Given the description of an element on the screen output the (x, y) to click on. 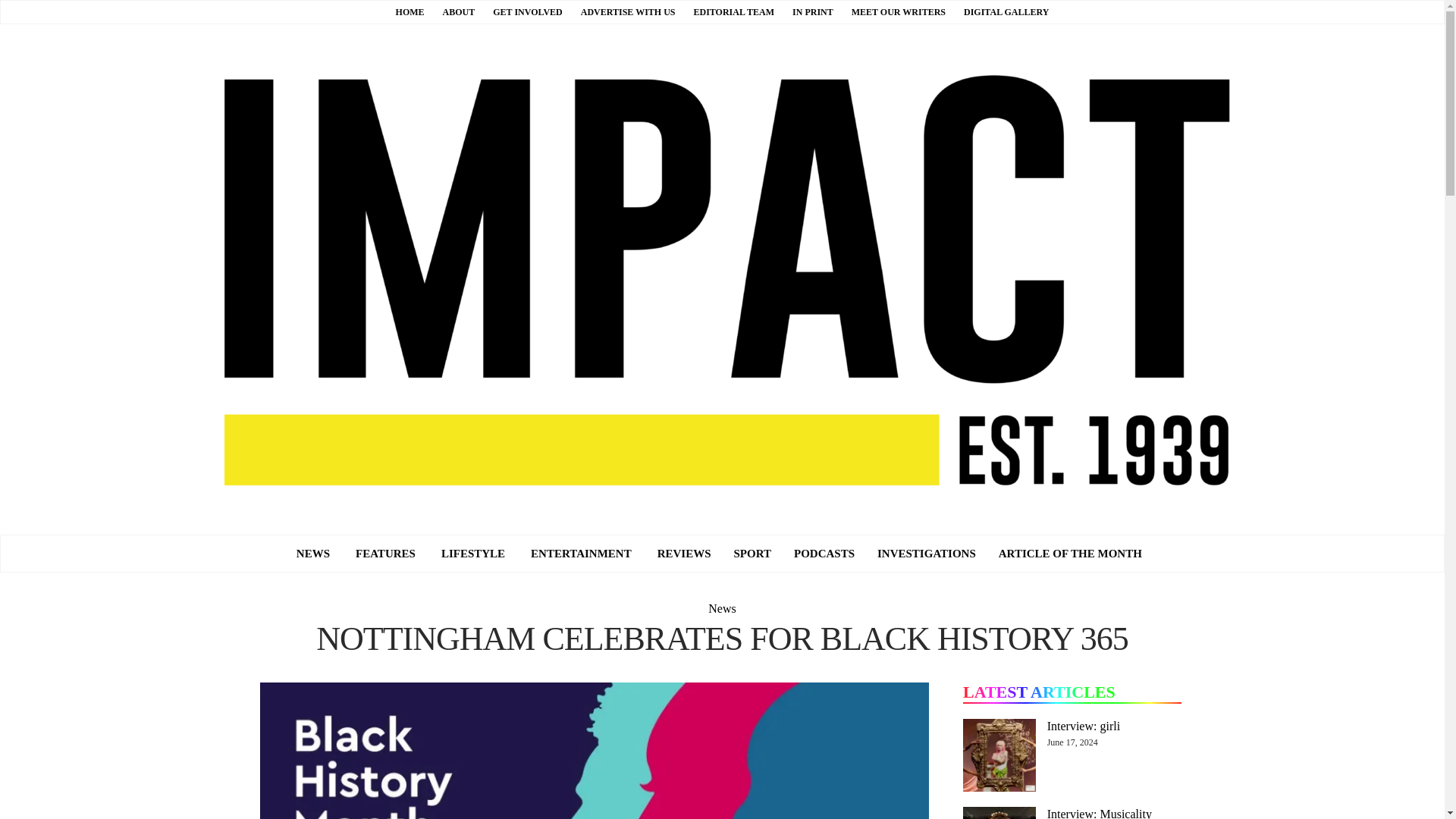
ADVERTISE WITH US (627, 11)
EDITORIAL TEAM (733, 11)
News (312, 553)
DIGITAL GALLERY (1005, 11)
IN PRINT (812, 11)
HOME (410, 11)
NEWS (312, 553)
ABOUT (459, 11)
GET INVOLVED (527, 11)
MEET OUR WRITERS (897, 11)
